Given the description of an element on the screen output the (x, y) to click on. 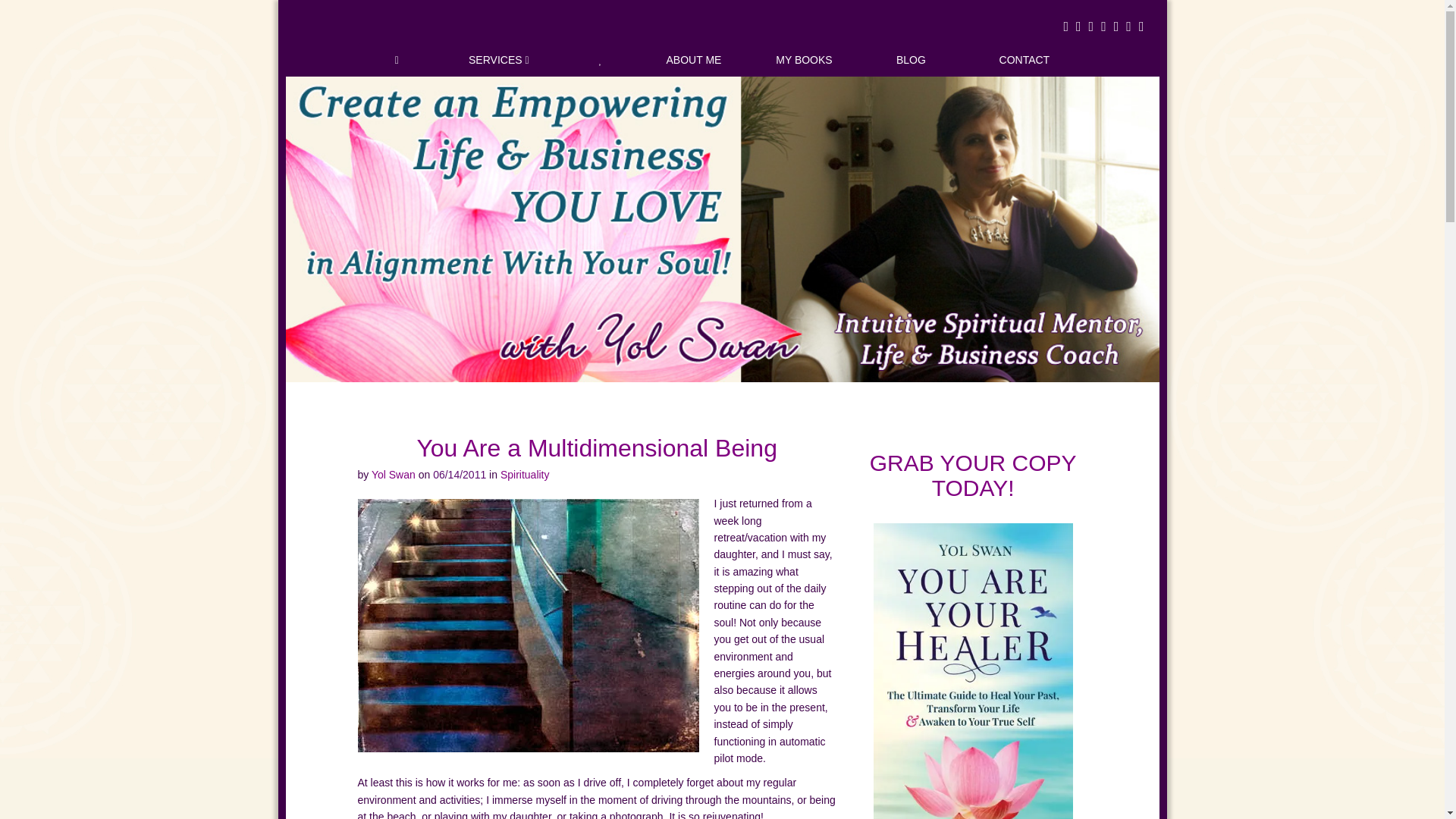
Twitter (1074, 27)
Instagram (1099, 27)
Facebook (1061, 27)
Yol Swan on X aka Twitter (1074, 27)
Tumblr (1137, 27)
Yol Swan on Tumblr (1137, 27)
MY BOOKS (803, 60)
YouTube (1112, 27)
LinkedIn (1124, 27)
Yol Swan on Facebook (1061, 27)
